Given the description of an element on the screen output the (x, y) to click on. 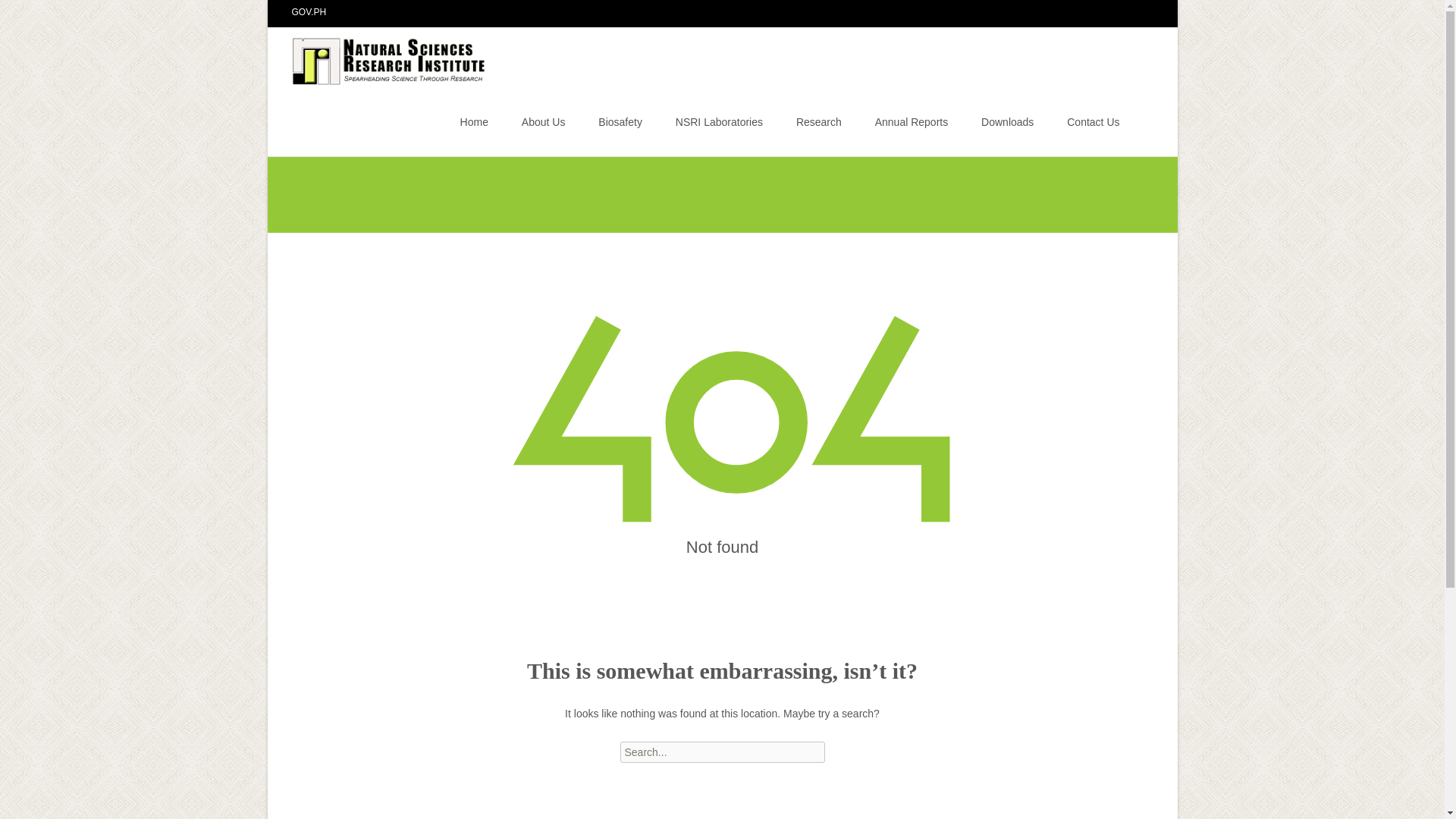
NSRI Laboratories (718, 121)
Search for: (722, 752)
Search (18, 14)
Annual Reports (912, 121)
Natural Sciences Research Institute (378, 57)
Search (34, 14)
Search for: (1139, 123)
GOV.PH (308, 11)
